Given the description of an element on the screen output the (x, y) to click on. 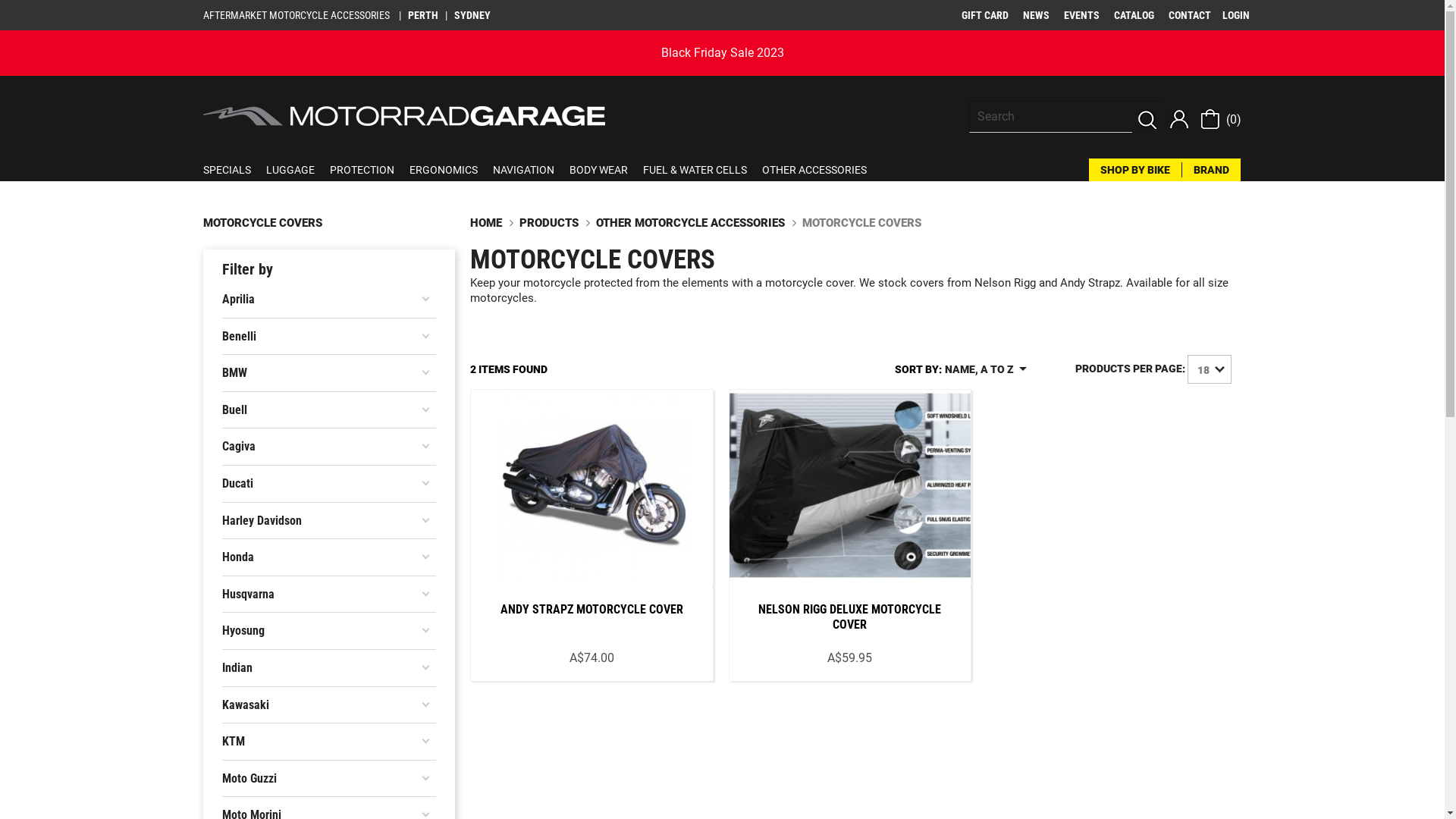
GIFT CARD Element type: text (984, 15)
SPECIALS Element type: text (234, 169)
NELSON RIGG DELUXE MOTORCYCLE COVER Element type: text (849, 616)
FUEL & WATER CELLS Element type: text (702, 169)
BRAND Element type: text (1211, 169)
PRODUCTS Element type: text (550, 222)
BODY WEAR Element type: text (605, 169)
SYDNEY   Element type: text (473, 15)
PROTECTION Element type: text (368, 169)
PERTH Element type: text (422, 15)
CATALOG Element type: text (1133, 15)
Log in to your customer account Element type: hover (1179, 117)
EVENTS Element type: text (1080, 15)
NAVIGATION Element type: text (530, 169)
18 Element type: text (1209, 368)
CONTACT Element type: text (1188, 15)
ANDY STRAPZ MOTORCYCLE COVER Element type: text (591, 609)
MOTORCYCLE COVERS Element type: text (861, 222)
HOME Element type: text (487, 222)
OTHER MOTORCYCLE ACCESSORIES Element type: text (691, 222)
LOGIN Element type: text (1235, 15)
LUGGAGE Element type: text (297, 169)
OTHER ACCESSORIES Element type: text (821, 169)
NEWS Element type: text (1035, 15)
MOTORCYCLE COVERS Element type: text (262, 222)
SHOP BY BIKE Element type: text (1140, 169)
ERGONOMICS Element type: text (450, 169)
